Given the description of an element on the screen output the (x, y) to click on. 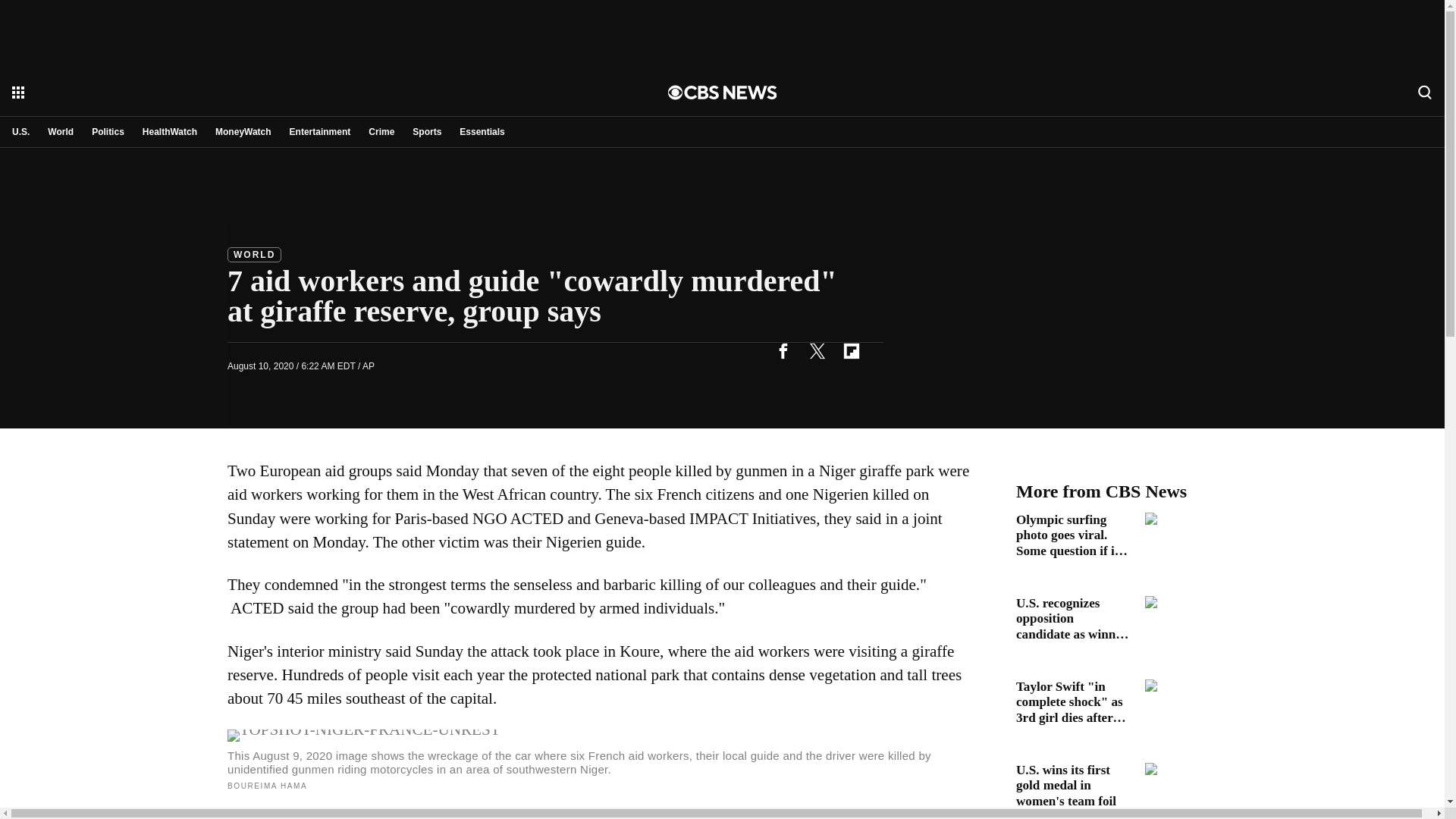
flipboard (850, 350)
facebook (782, 350)
twitter (816, 350)
